Given the description of an element on the screen output the (x, y) to click on. 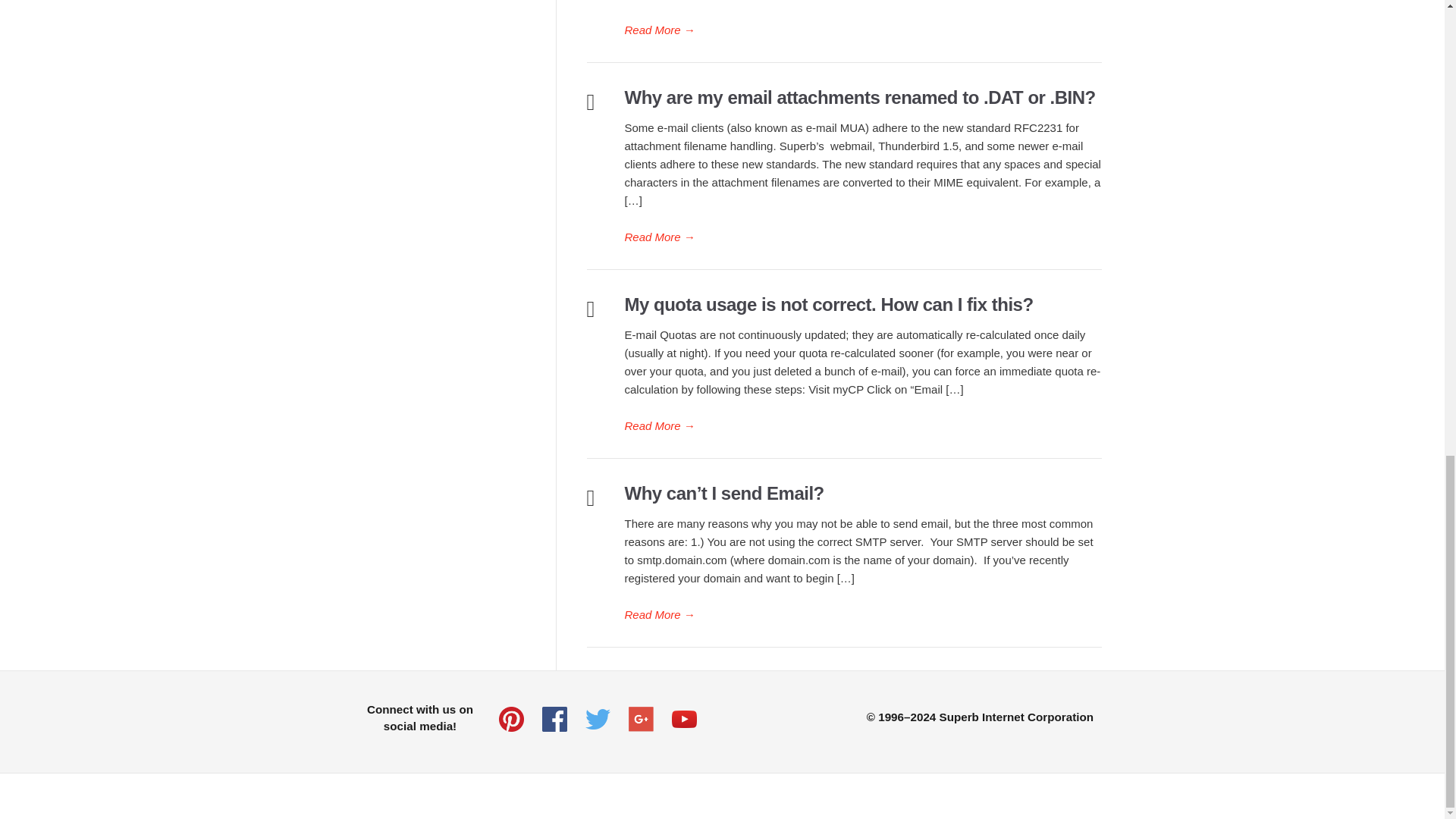
Why are my email attachments renamed to .DAT or .BIN? (860, 96)
Why are my email attachments renamed to .DAT or .BIN? (863, 237)
My quota usage is not correct.  How can I fix this? (863, 425)
My quota usage is not correct. How can I fix this? (828, 304)
